Given the description of an element on the screen output the (x, y) to click on. 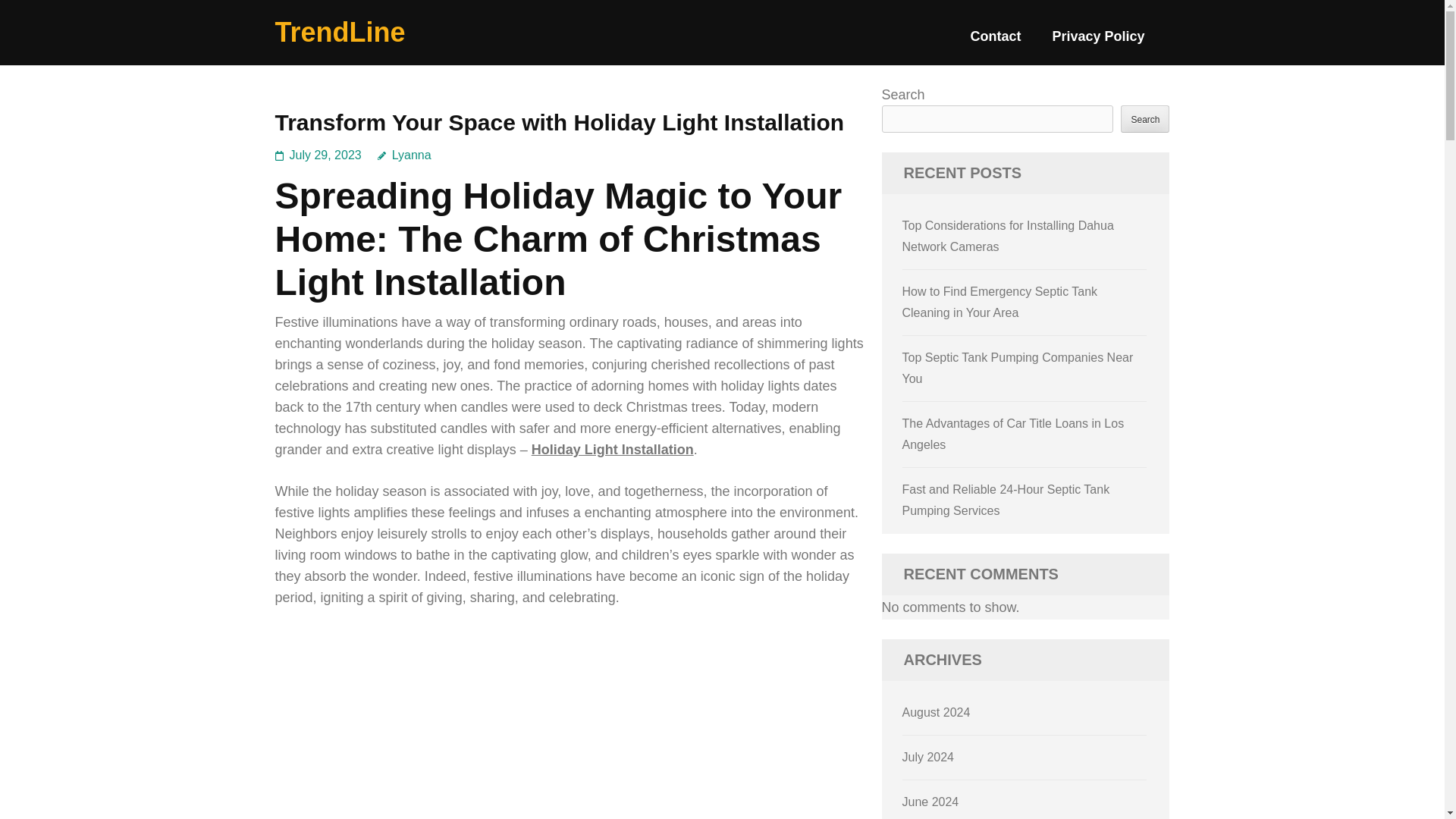
June 2024 (930, 801)
July 2024 (928, 757)
July 29, 2023 (325, 154)
Holiday Light Installation (612, 449)
Top Considerations for Installing Dahua Network Cameras (1007, 236)
Top Septic Tank Pumping Companies Near You (1018, 367)
The Advantages of Car Title Loans in Los Angeles (1013, 433)
Contact (994, 42)
Fast and Reliable 24-Hour Septic Tank Pumping Services (1005, 499)
TrendLine (339, 31)
